Given the description of an element on the screen output the (x, y) to click on. 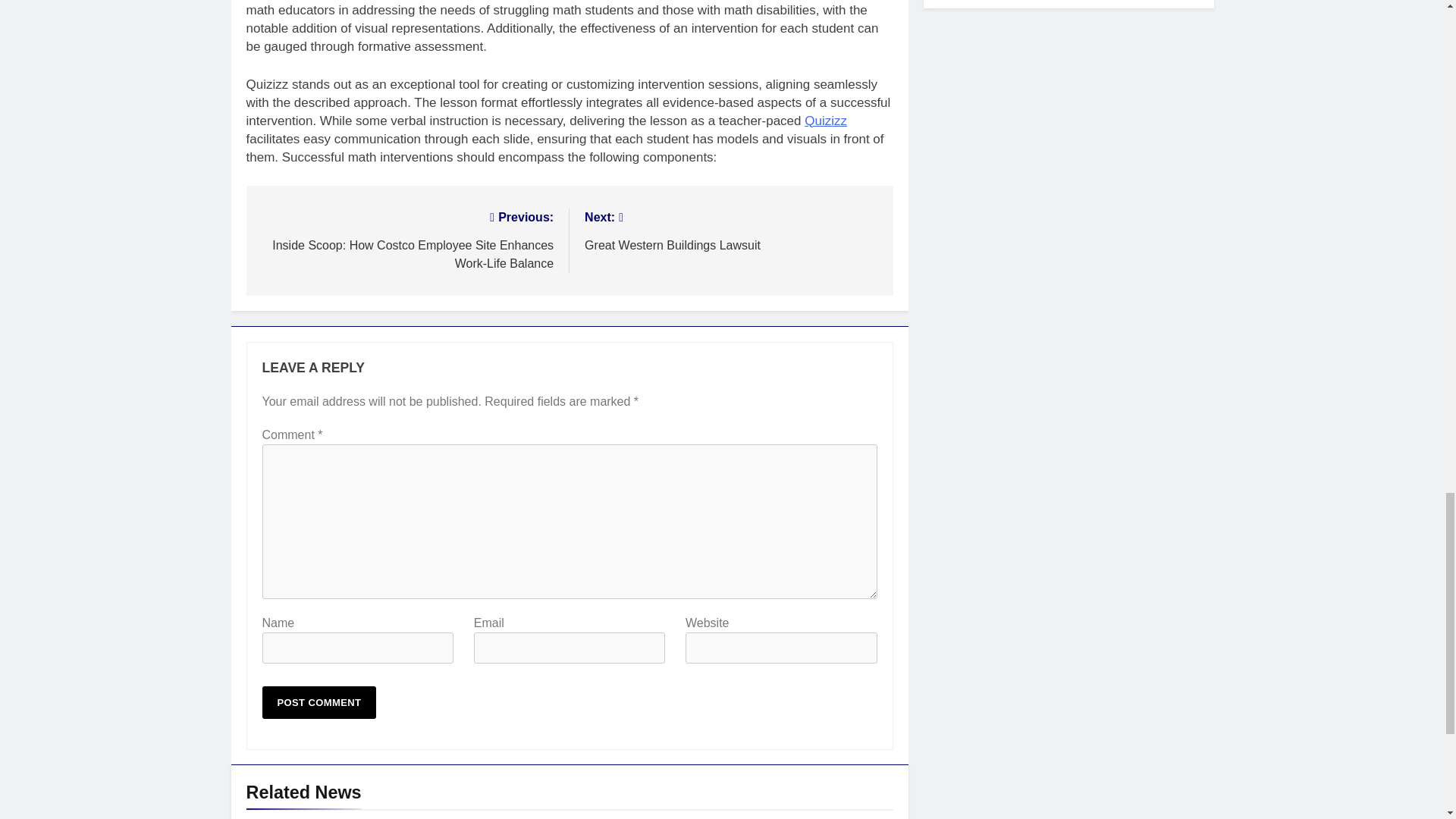
Post Comment (319, 702)
Quizizz (826, 120)
Post Comment (731, 229)
